Given the description of an element on the screen output the (x, y) to click on. 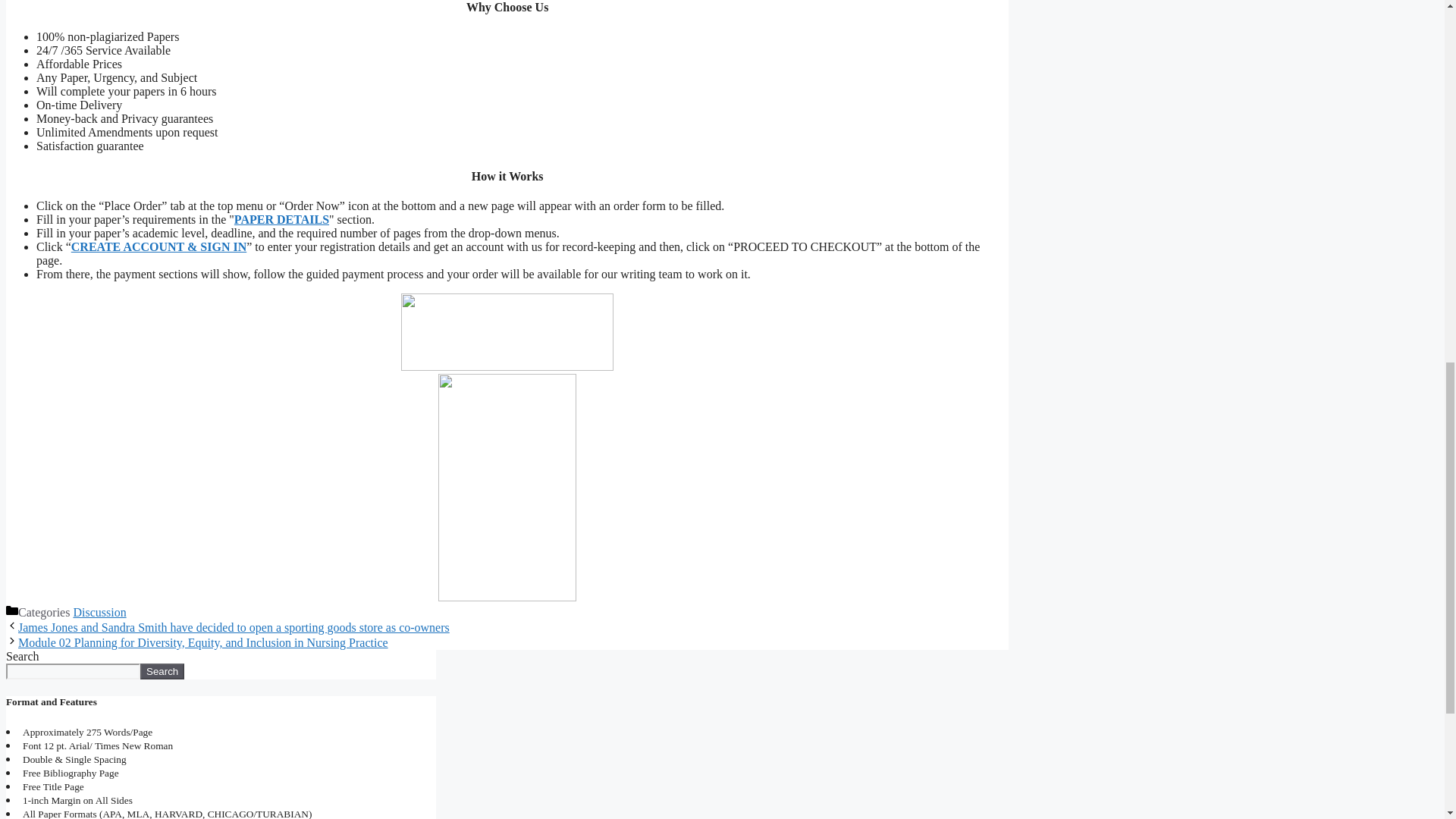
Search (161, 671)
Discussion (98, 612)
PAPER DETAILS (281, 219)
